Given the description of an element on the screen output the (x, y) to click on. 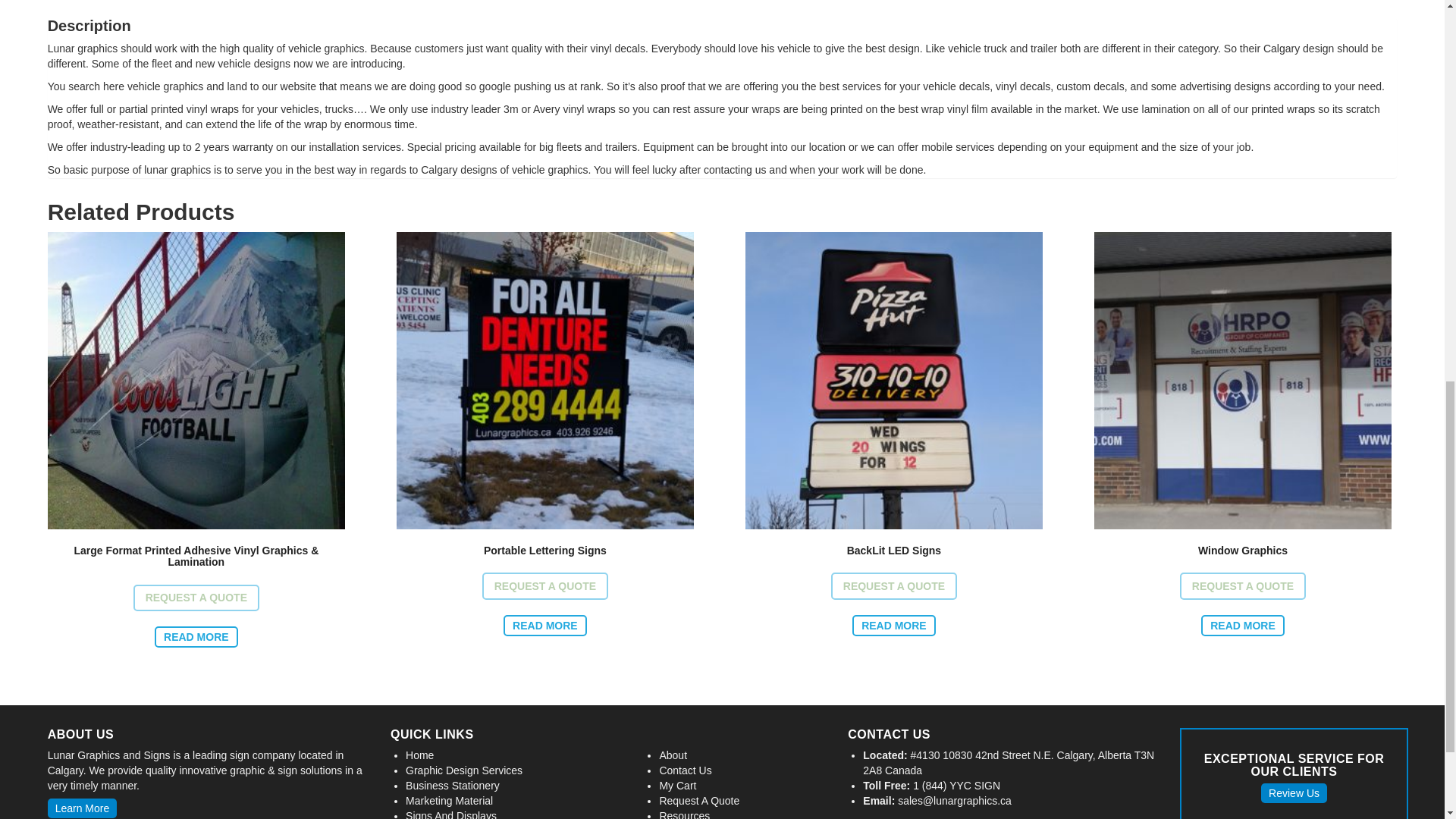
REQUEST A QUOTE (893, 585)
READ MORE (196, 636)
READ MORE (544, 625)
REQUEST A QUOTE (196, 597)
REQUEST A QUOTE (544, 585)
